Given the description of an element on the screen output the (x, y) to click on. 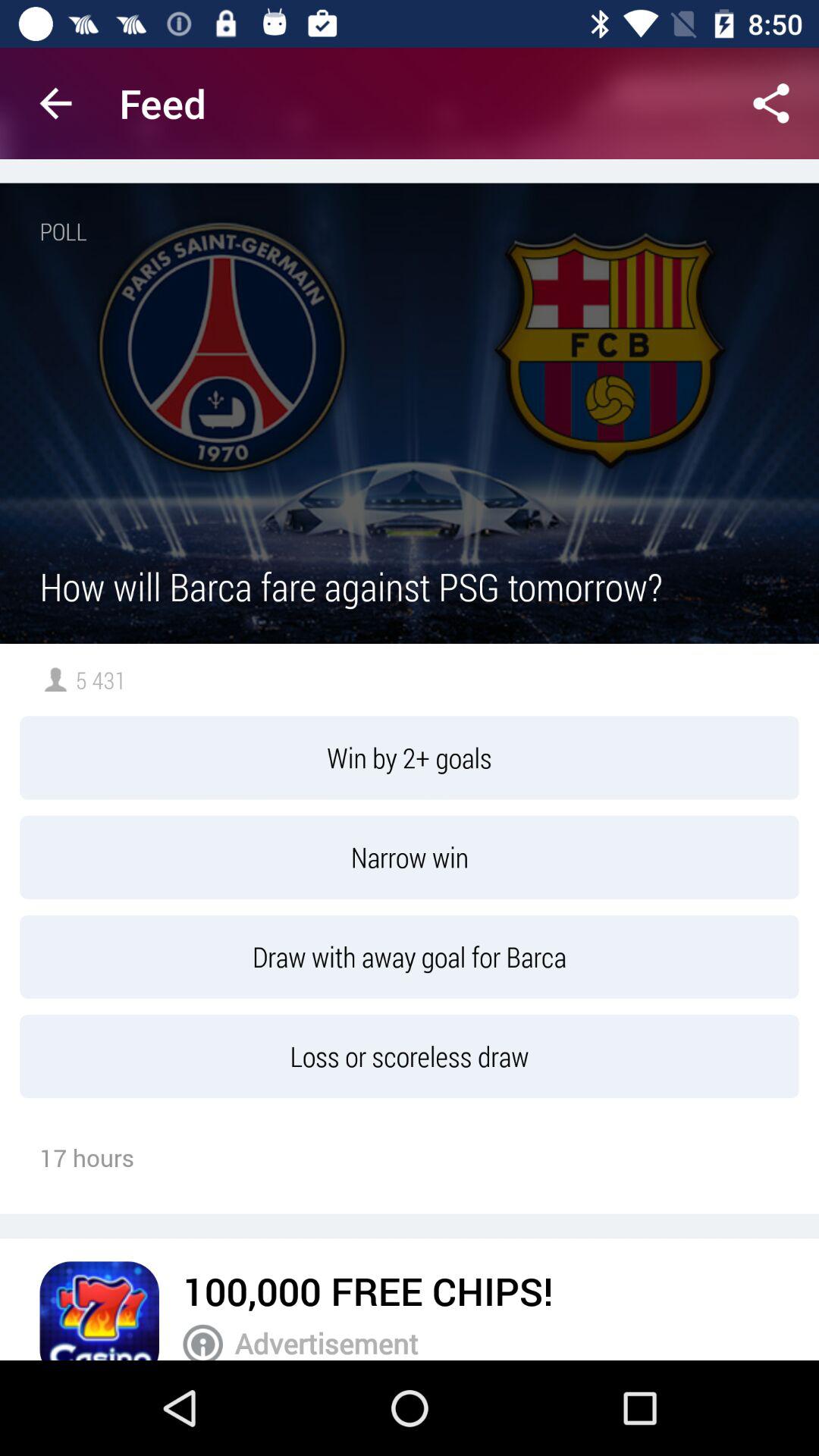
select the item below the 5 431 (409, 757)
